Given the description of an element on the screen output the (x, y) to click on. 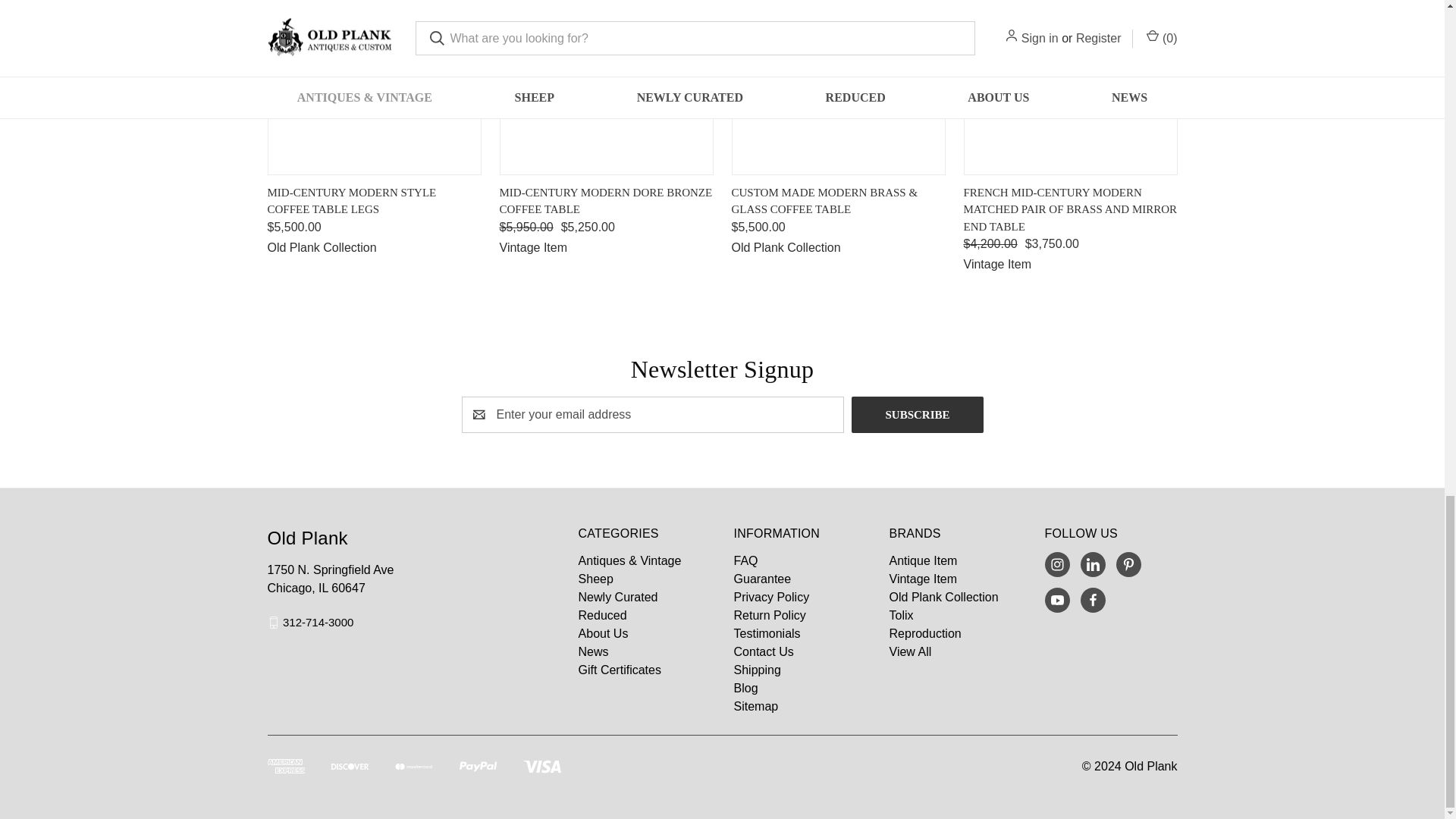
Mid-Century Modern Dore Bronze Coffee Table Angled (606, 85)
Mid-Century Modern Style Coffee Table Legs Angled (373, 85)
Subscribe (916, 414)
